Given the description of an element on the screen output the (x, y) to click on. 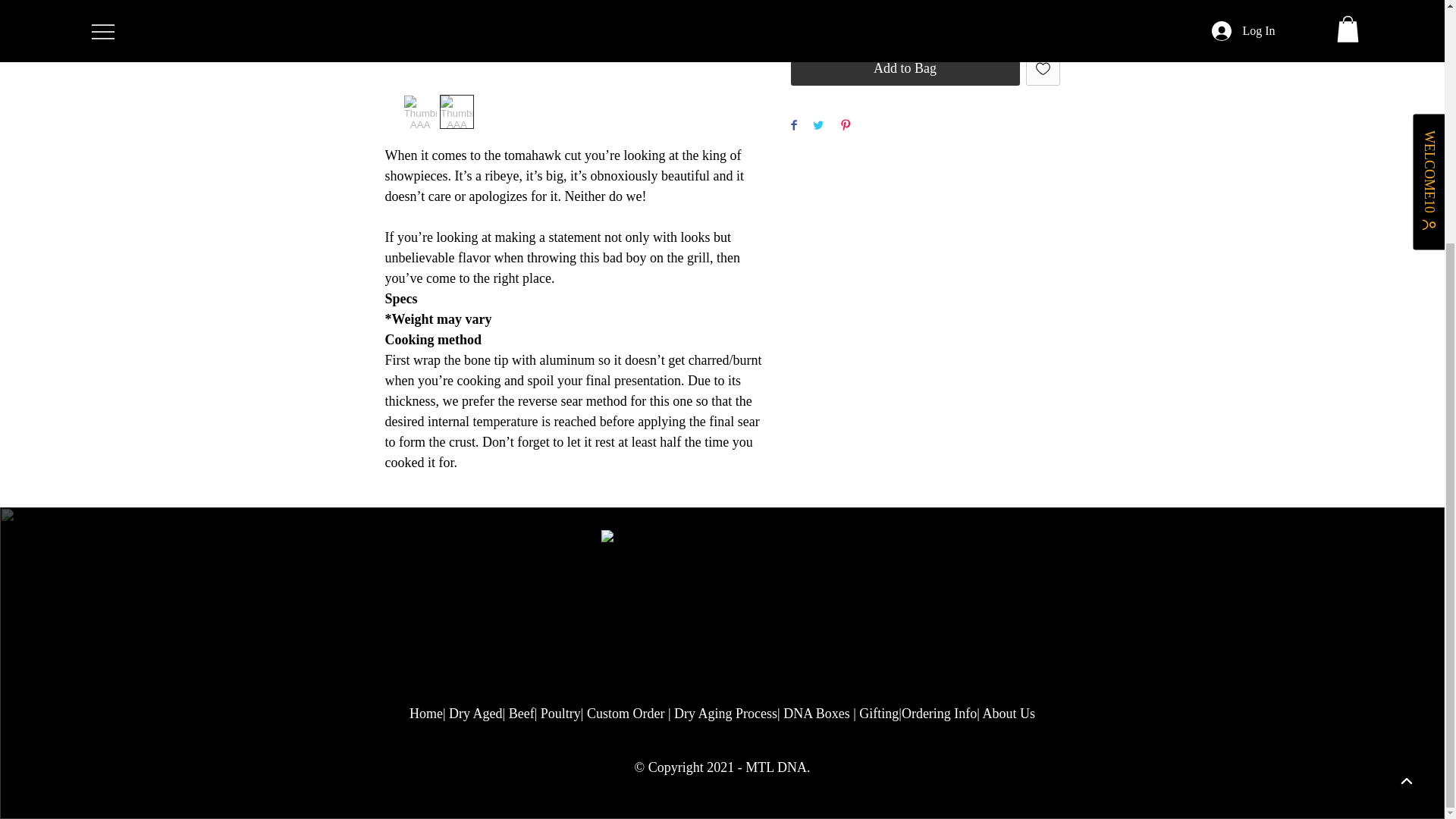
Custom Order (625, 713)
Beef (521, 713)
Add to Bag (904, 68)
1 (823, 13)
Home (425, 713)
Dry Aged (475, 713)
About Us (1008, 713)
Poultry (560, 713)
Gifting (878, 713)
DNA Boxes (816, 713)
Dry Aging Process (725, 713)
Ordering Info (938, 713)
